Given the description of an element on the screen output the (x, y) to click on. 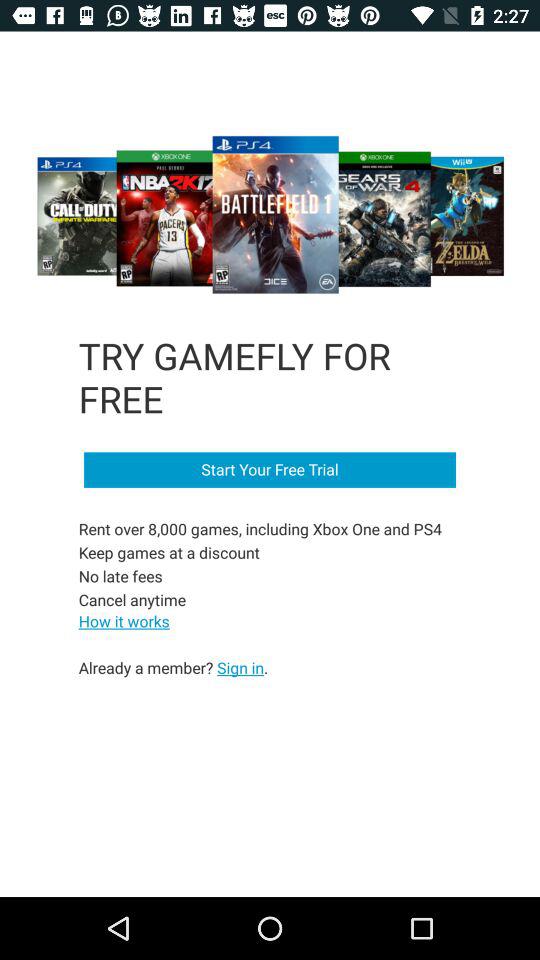
tap item above the how it works (262, 564)
